Given the description of an element on the screen output the (x, y) to click on. 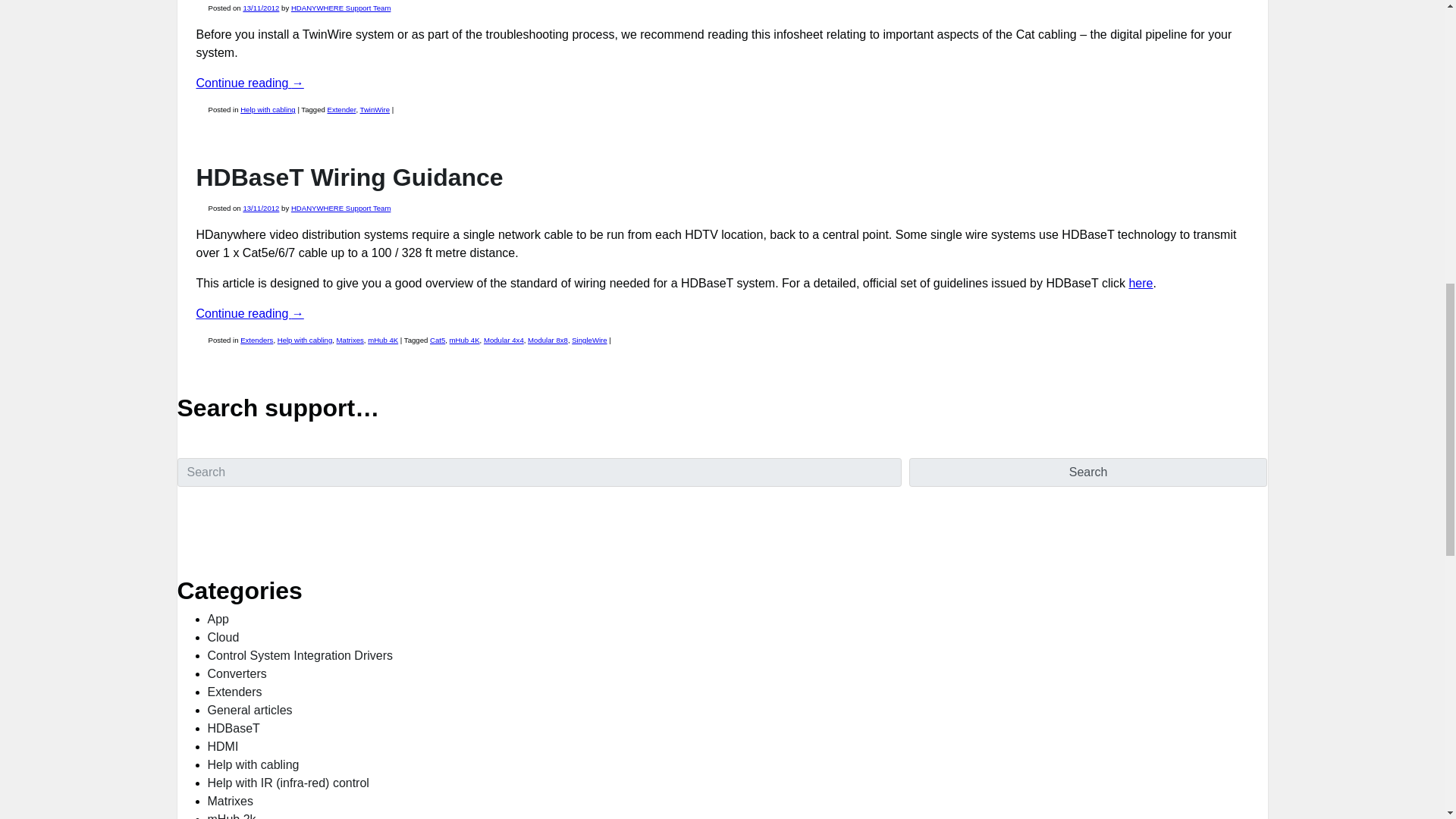
Search (1088, 471)
